Given the description of an element on the screen output the (x, y) to click on. 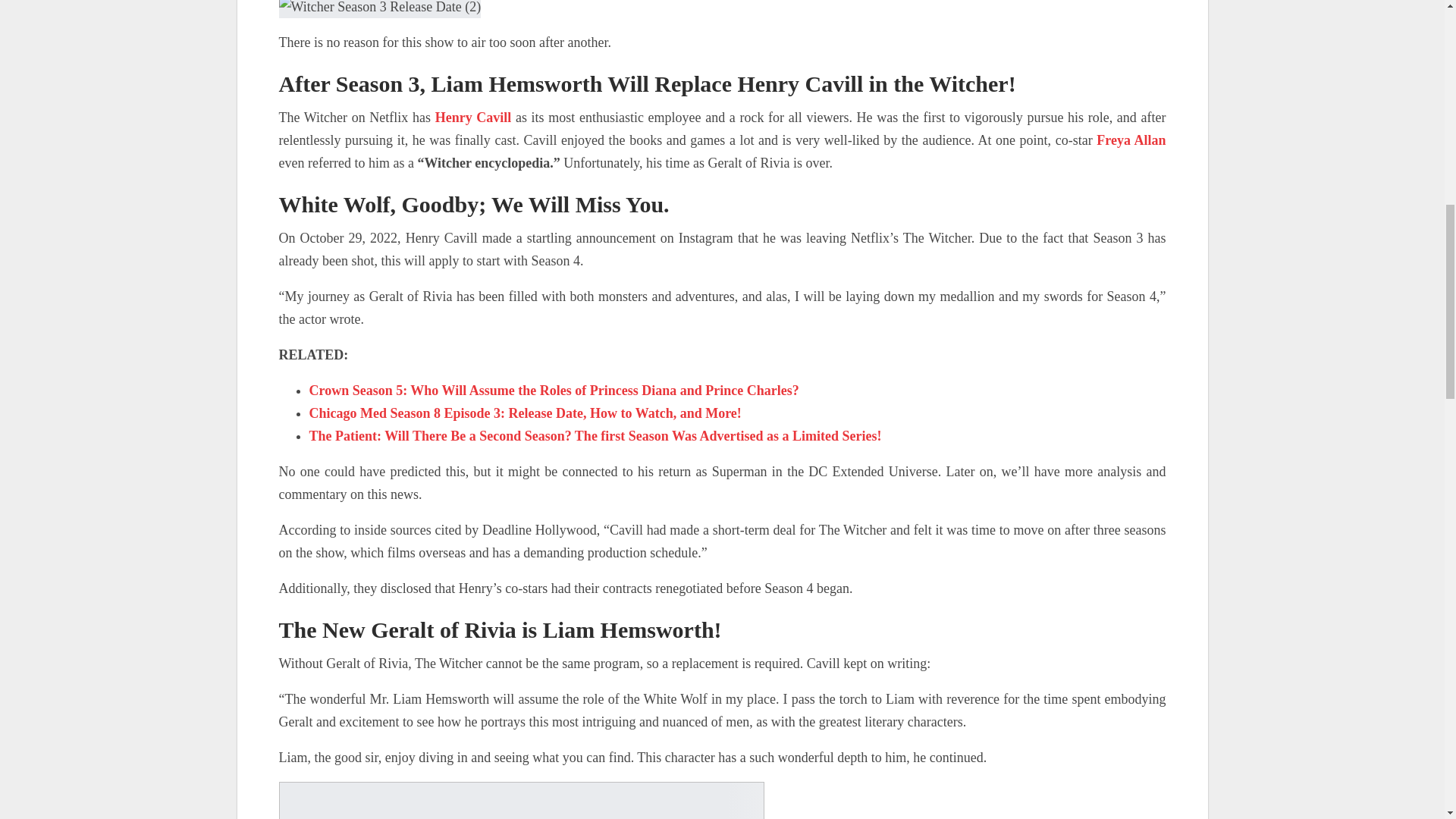
Henry Cavill (473, 117)
